Given the description of an element on the screen output the (x, y) to click on. 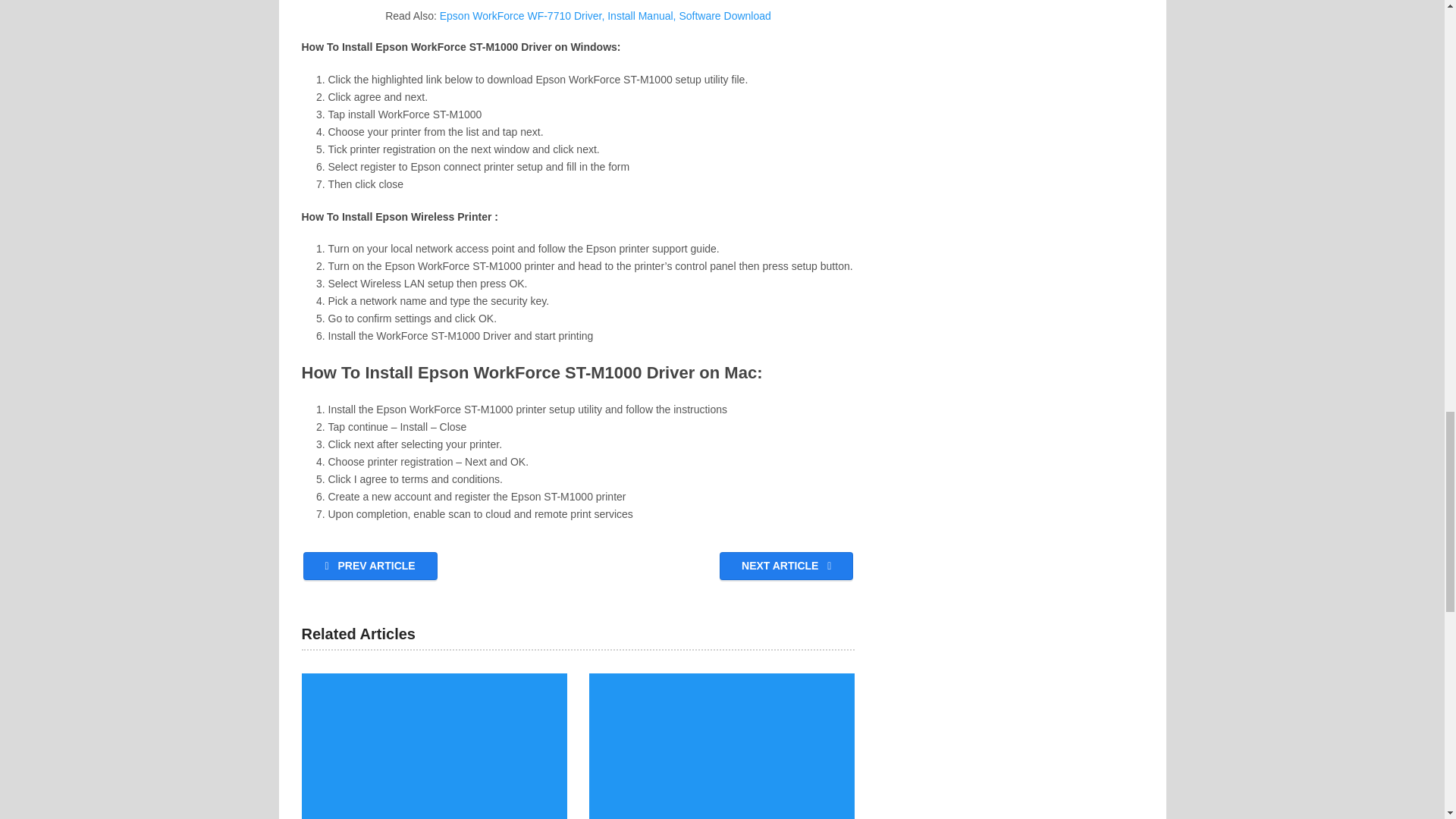
PREV ARTICLE (370, 565)
NEXT ARTICLE (786, 565)
Epson WF-4730DTWF Driver Download, Install and Software (721, 746)
